Given the description of an element on the screen output the (x, y) to click on. 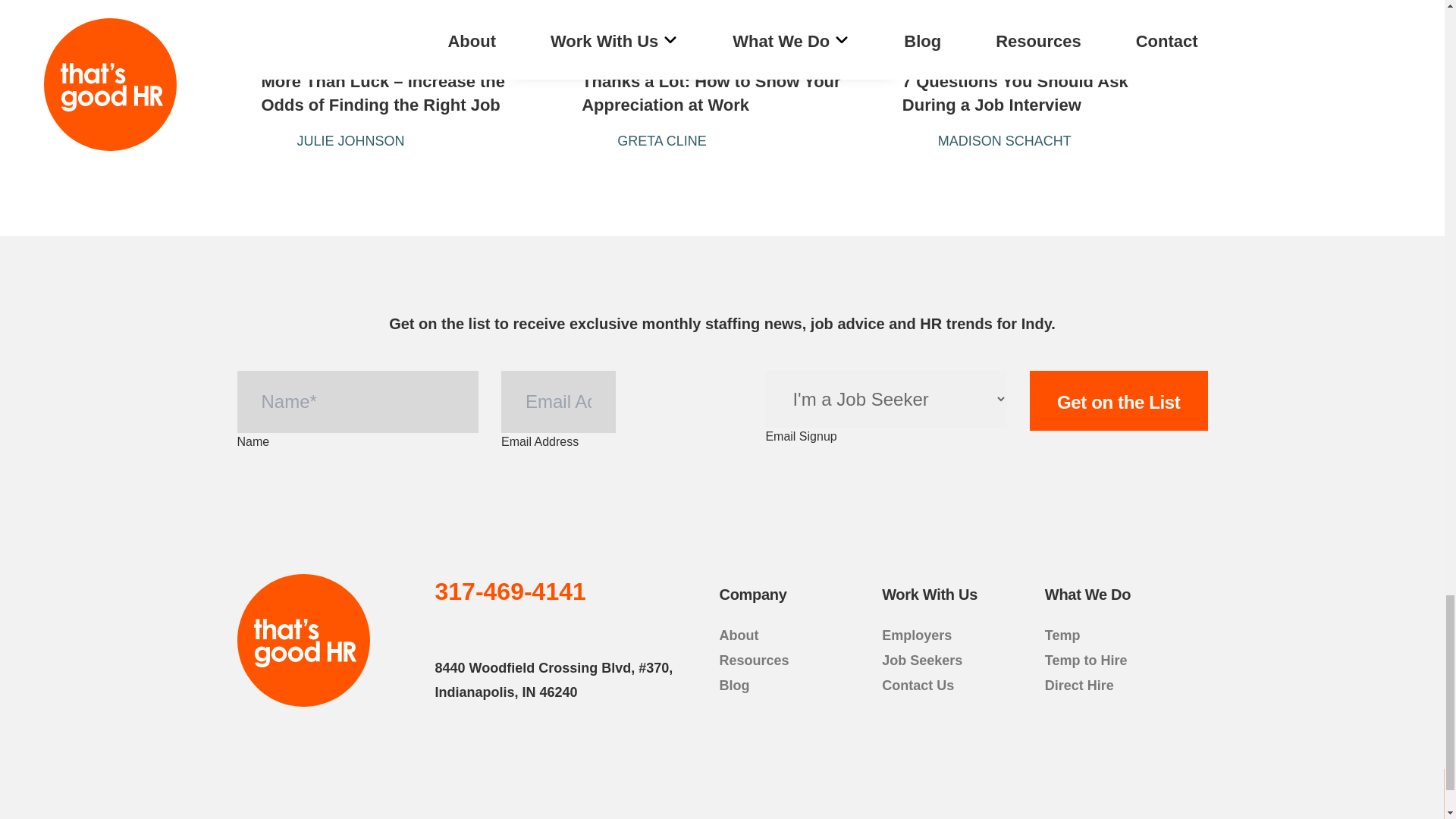
Link to Twitter (480, 630)
About (1118, 401)
317-469-4141 (738, 635)
Link to Linkedin (510, 591)
Link to Instagram (514, 630)
Resources (547, 630)
